Given the description of an element on the screen output the (x, y) to click on. 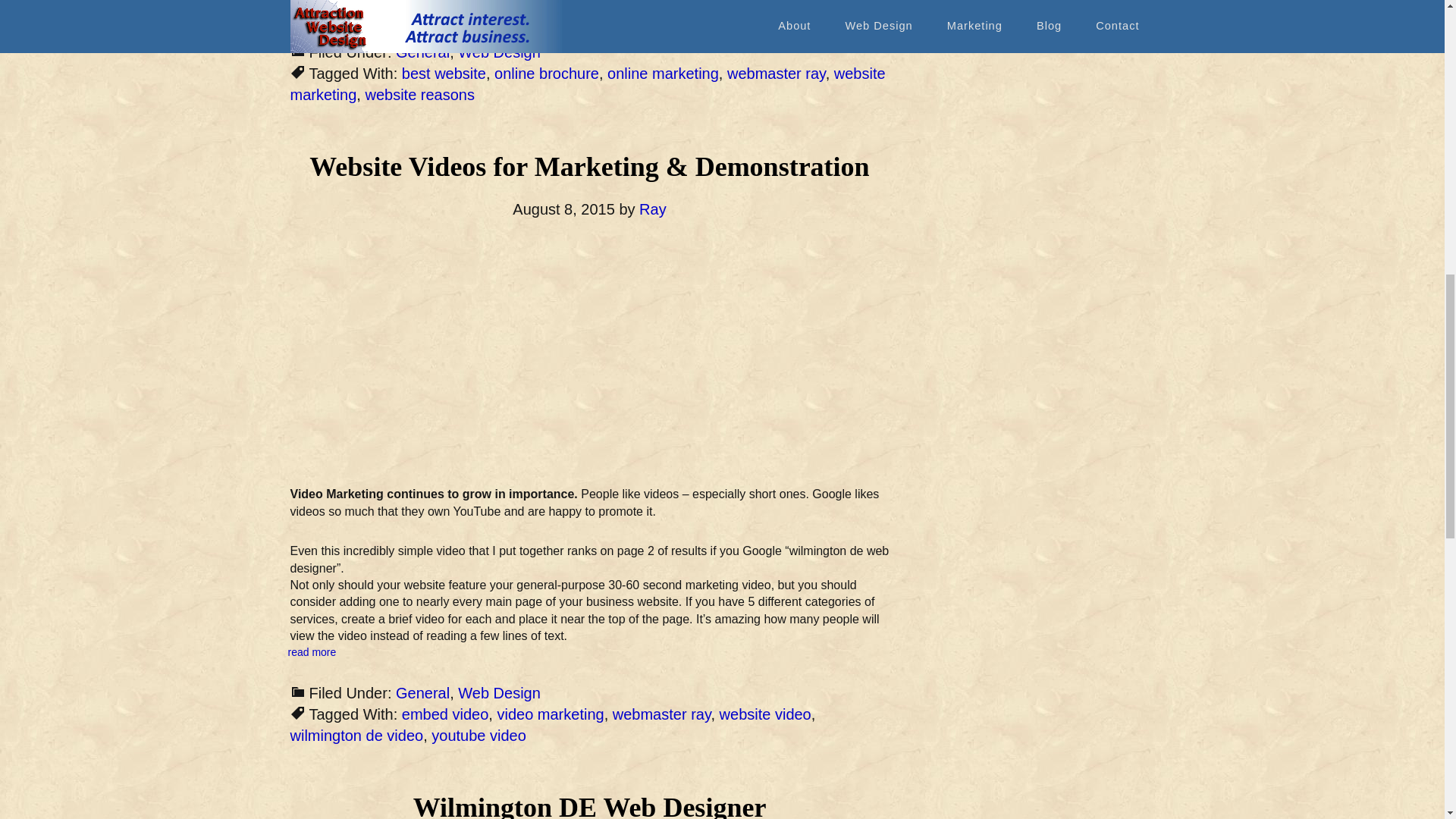
General (422, 52)
read more (312, 10)
